Given the description of an element on the screen output the (x, y) to click on. 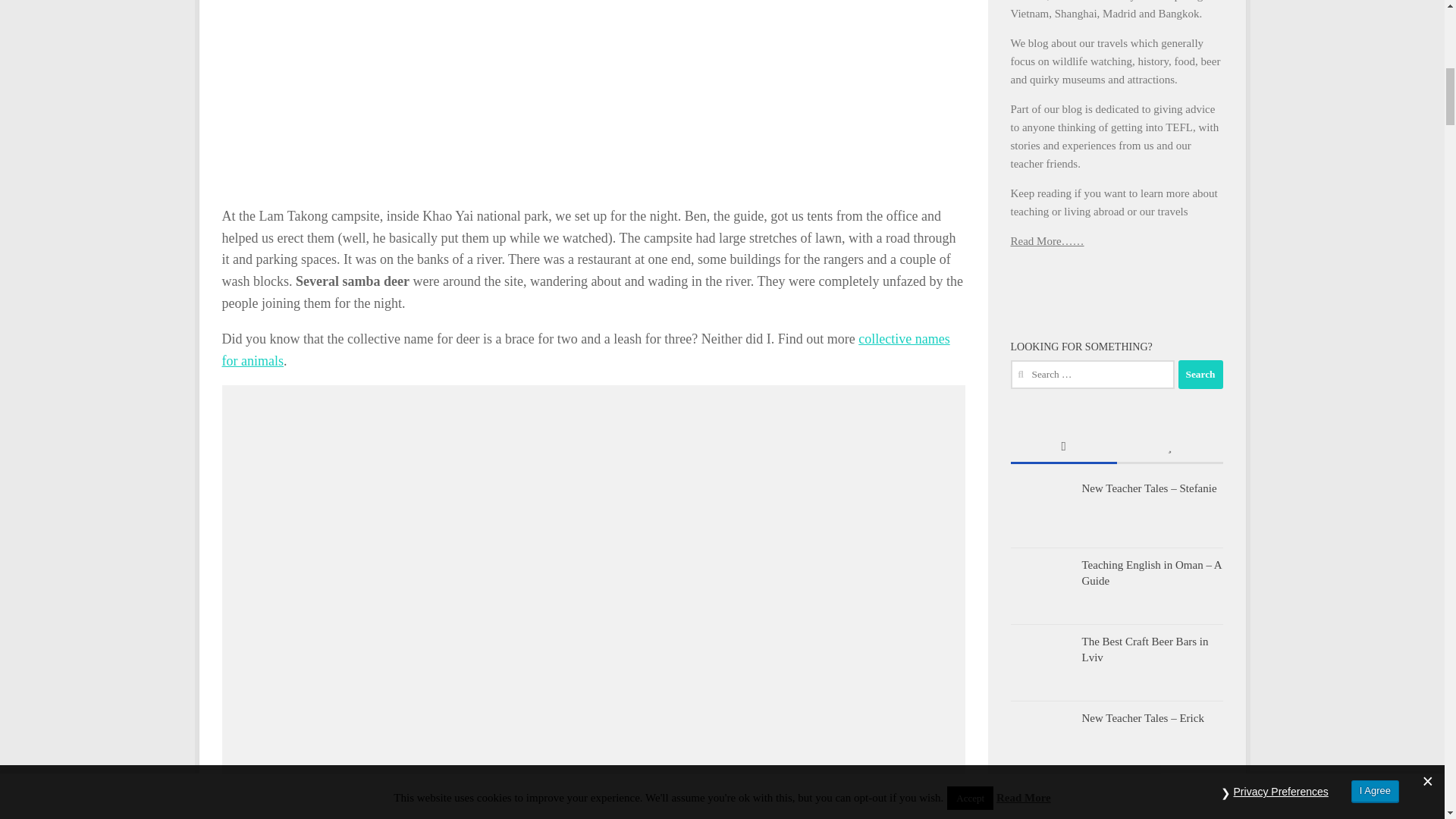
Search (1200, 374)
collective names for animals (585, 349)
Search (1200, 374)
